Given the description of an element on the screen output the (x, y) to click on. 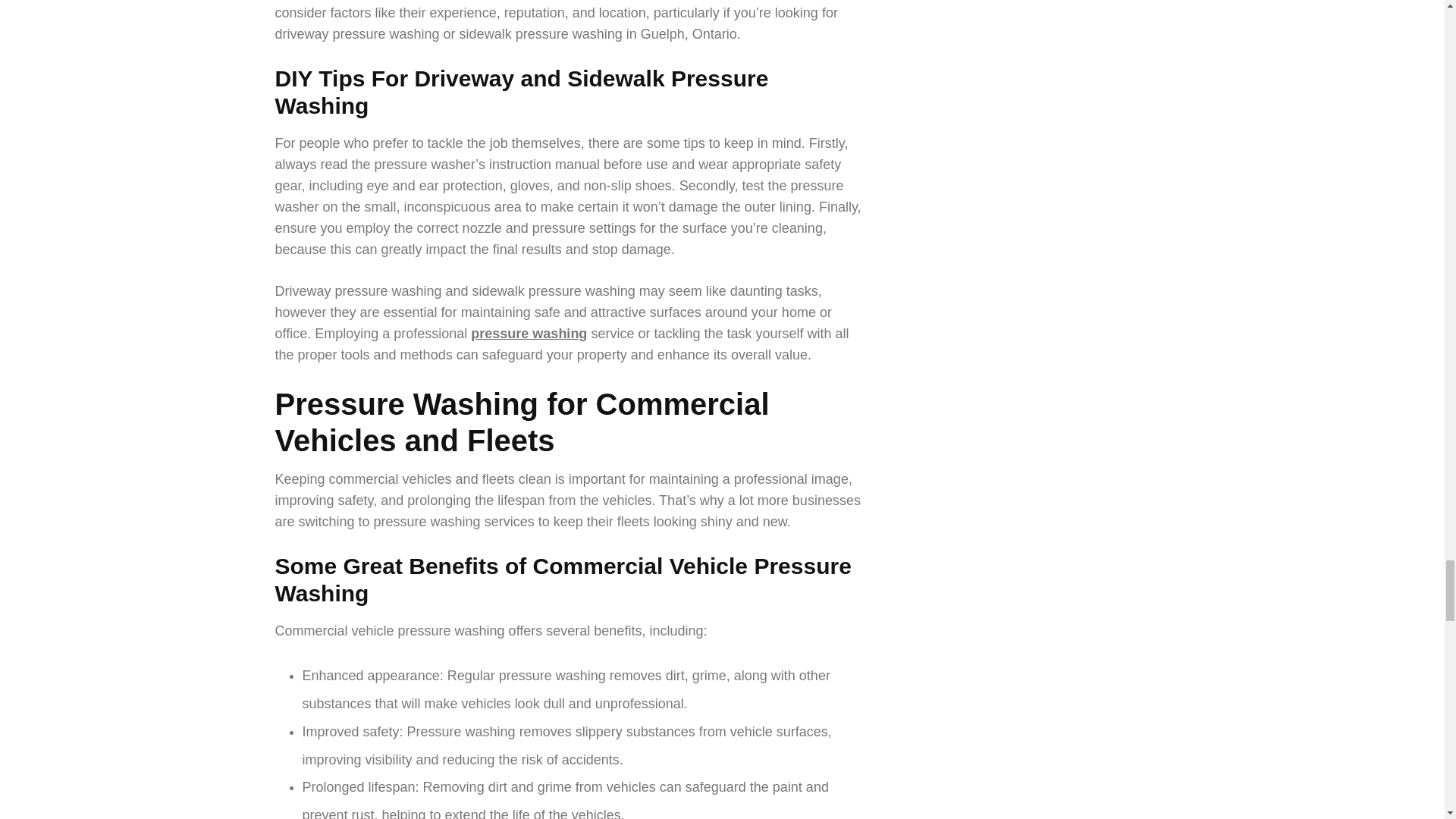
pressure washing (528, 333)
